Given the description of an element on the screen output the (x, y) to click on. 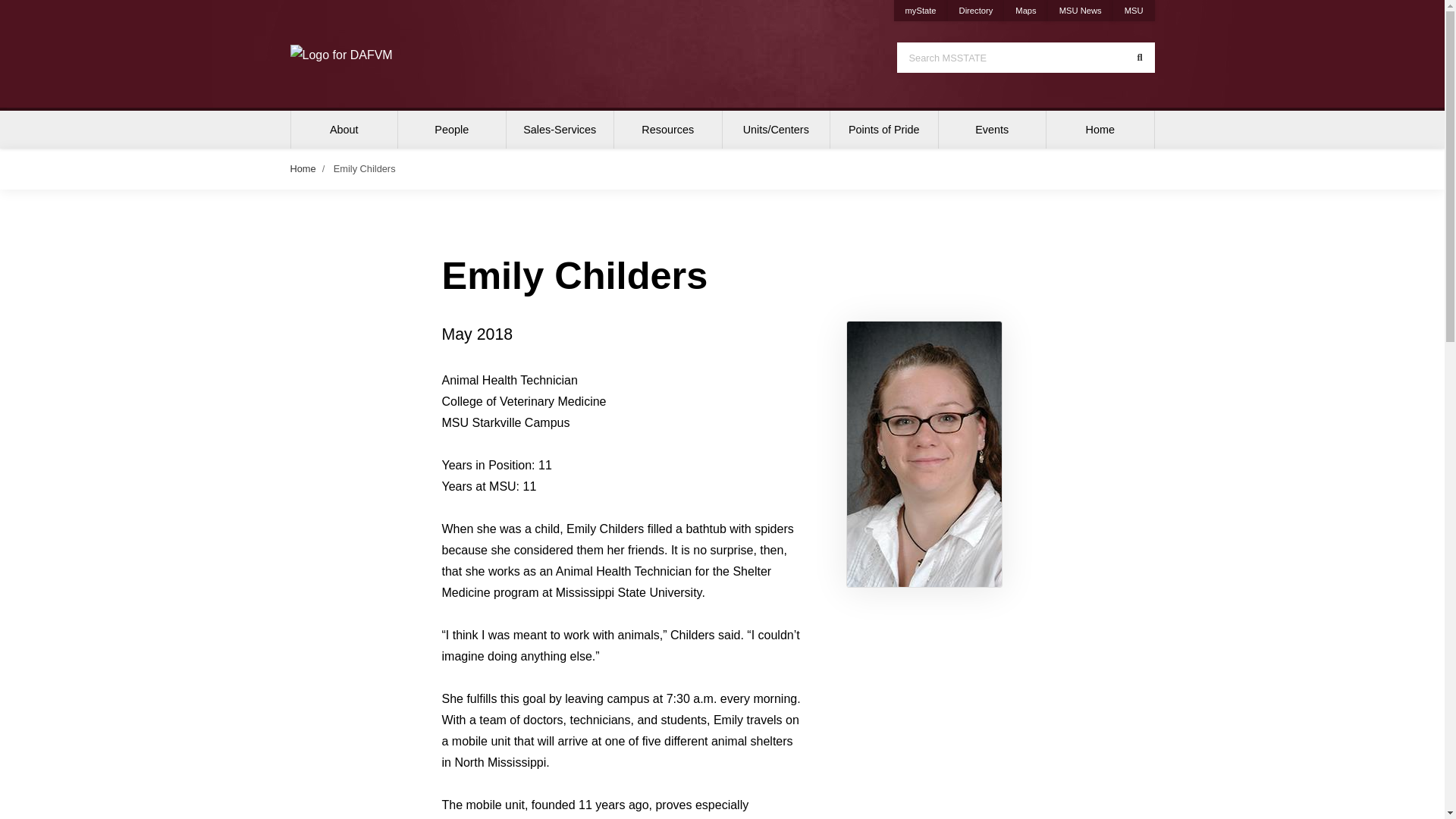
Search (1139, 57)
DAFVM (340, 55)
